Given the description of an element on the screen output the (x, y) to click on. 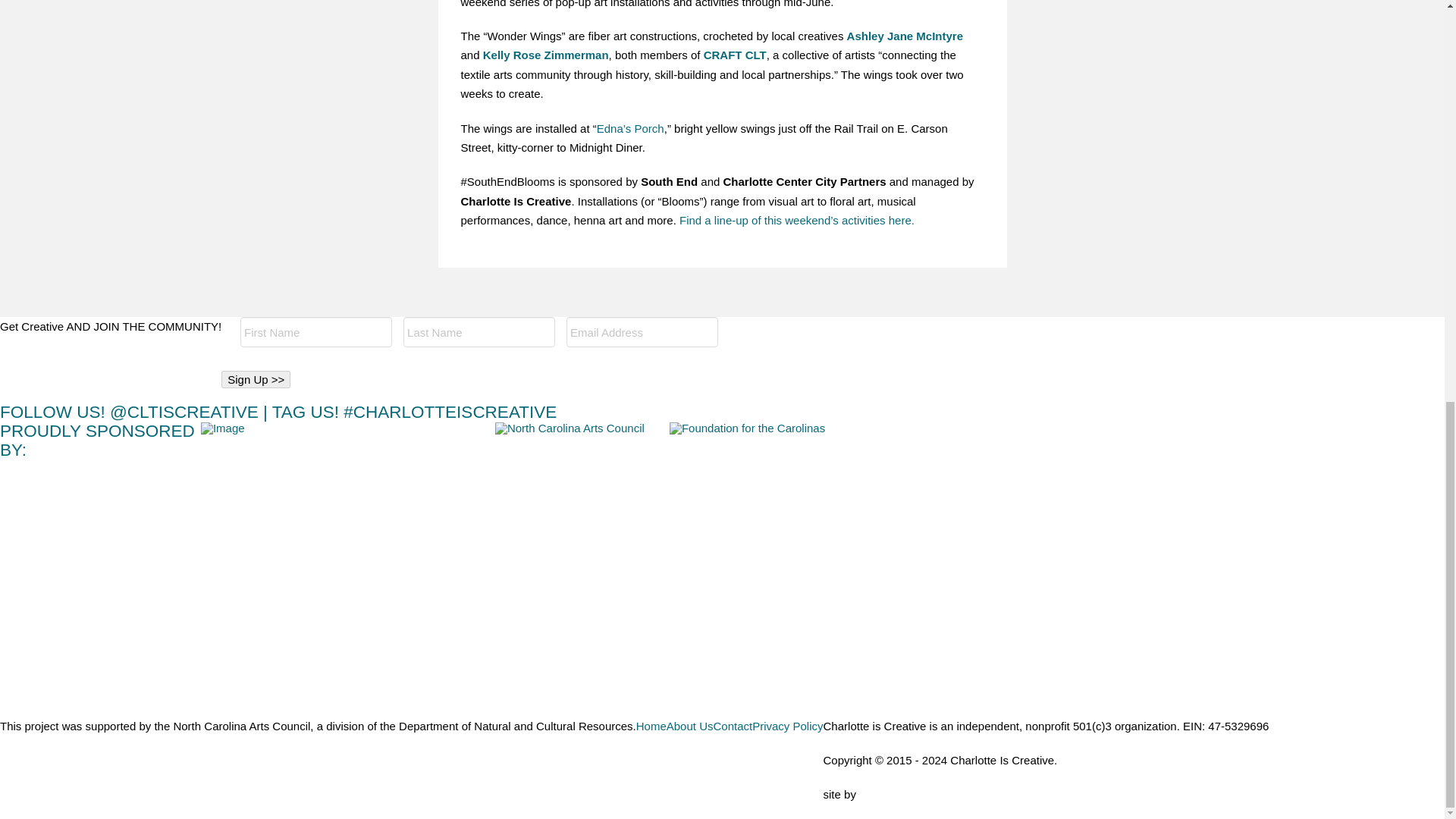
Ashley Jane McIntyre (904, 35)
Kelly Rose Zimmerman (545, 54)
CRAFT CLT (735, 54)
